Given the description of an element on the screen output the (x, y) to click on. 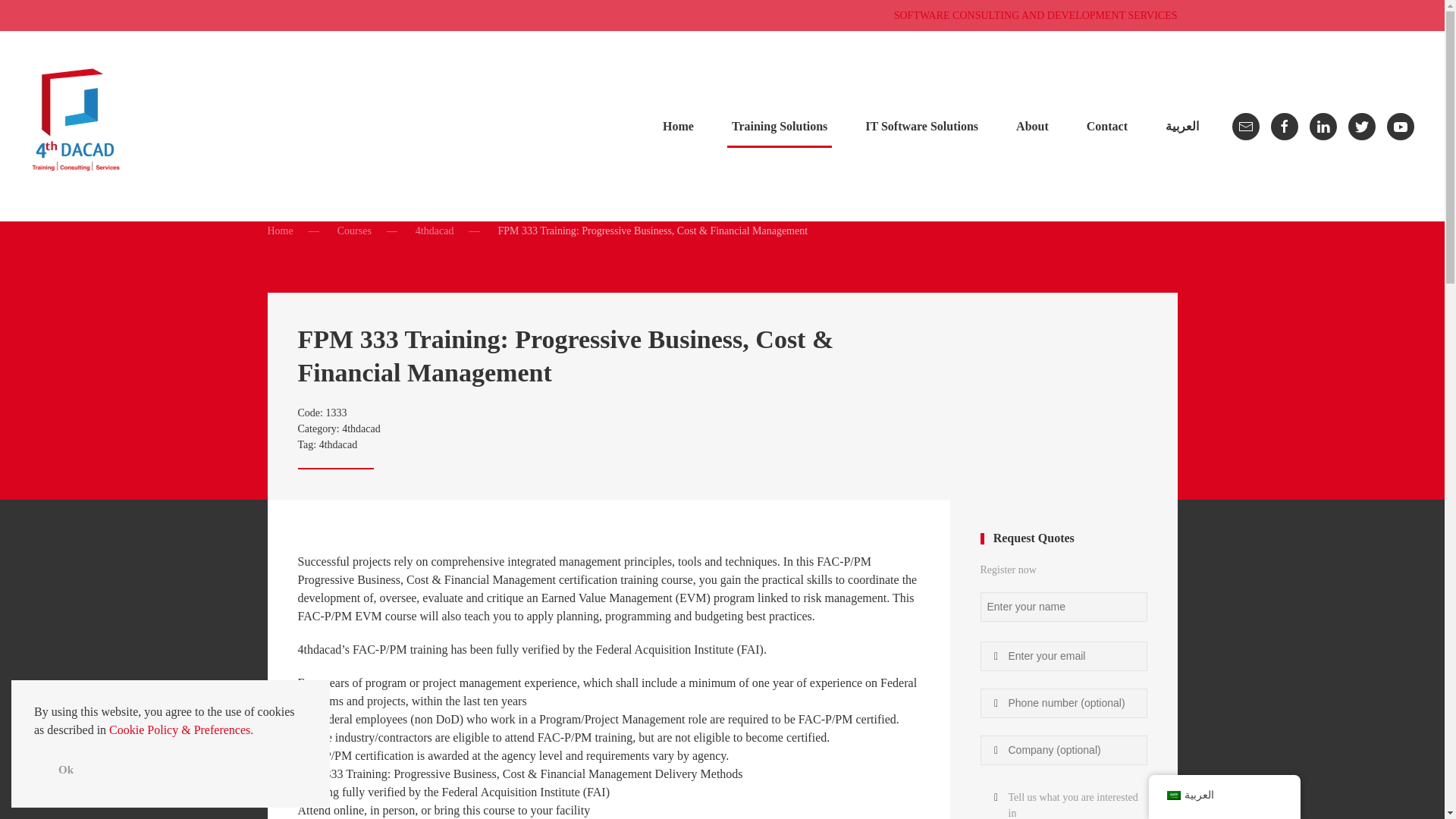
4thdacad (338, 444)
Contact (1106, 125)
IT Software Solutions (921, 125)
SOFTWARE CONSULTING AND DEVELOPMENT SERVICES (722, 428)
Courses (1035, 15)
Home (354, 230)
Home (678, 125)
4thdacad (279, 230)
4thdacad (361, 428)
Training Solutions (434, 230)
About (778, 125)
